Given the description of an element on the screen output the (x, y) to click on. 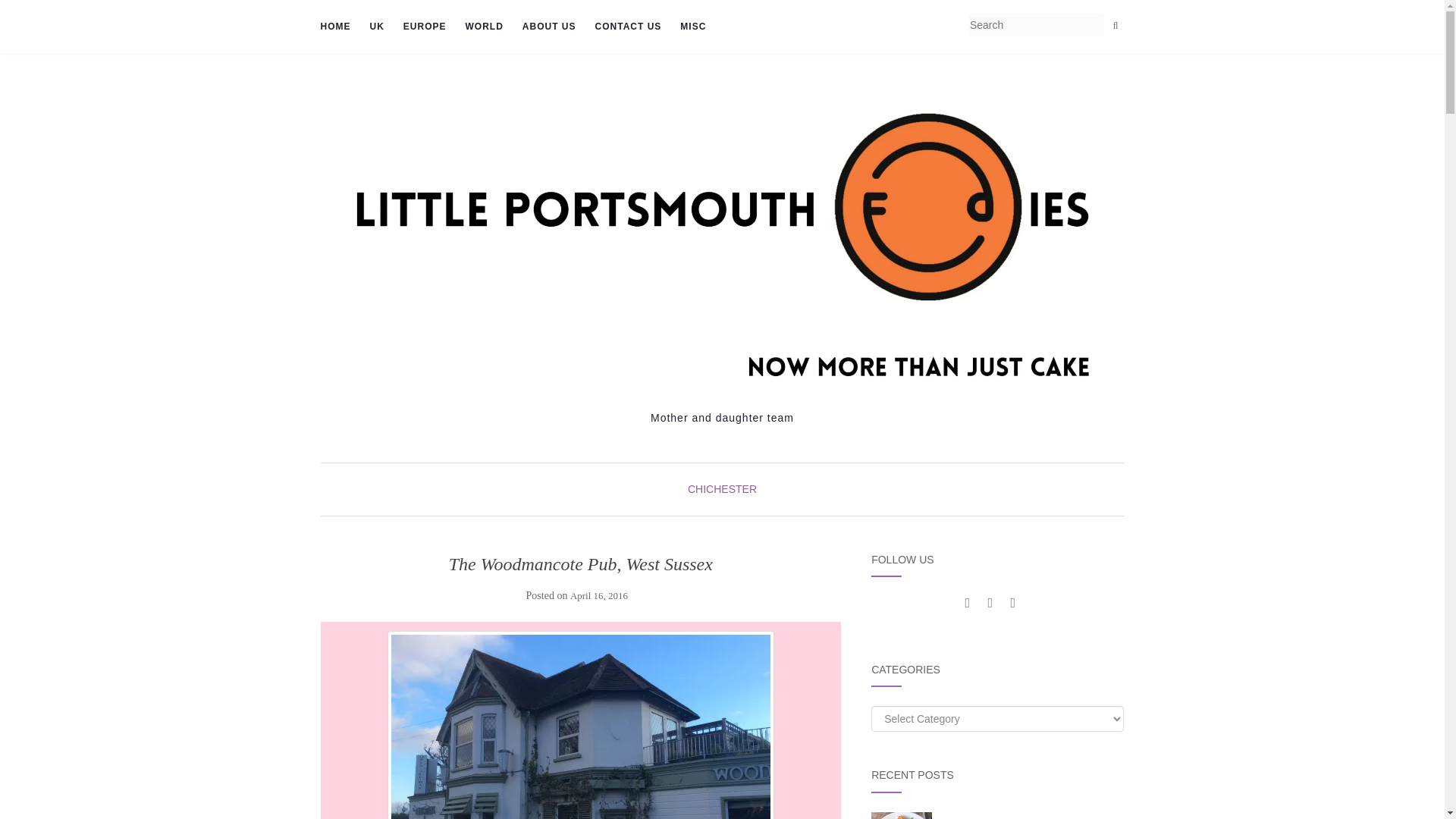
ABOUT US (549, 27)
April 16, 2016 (598, 595)
CONTACT US (628, 27)
CHICHESTER (722, 489)
